Given the description of an element on the screen output the (x, y) to click on. 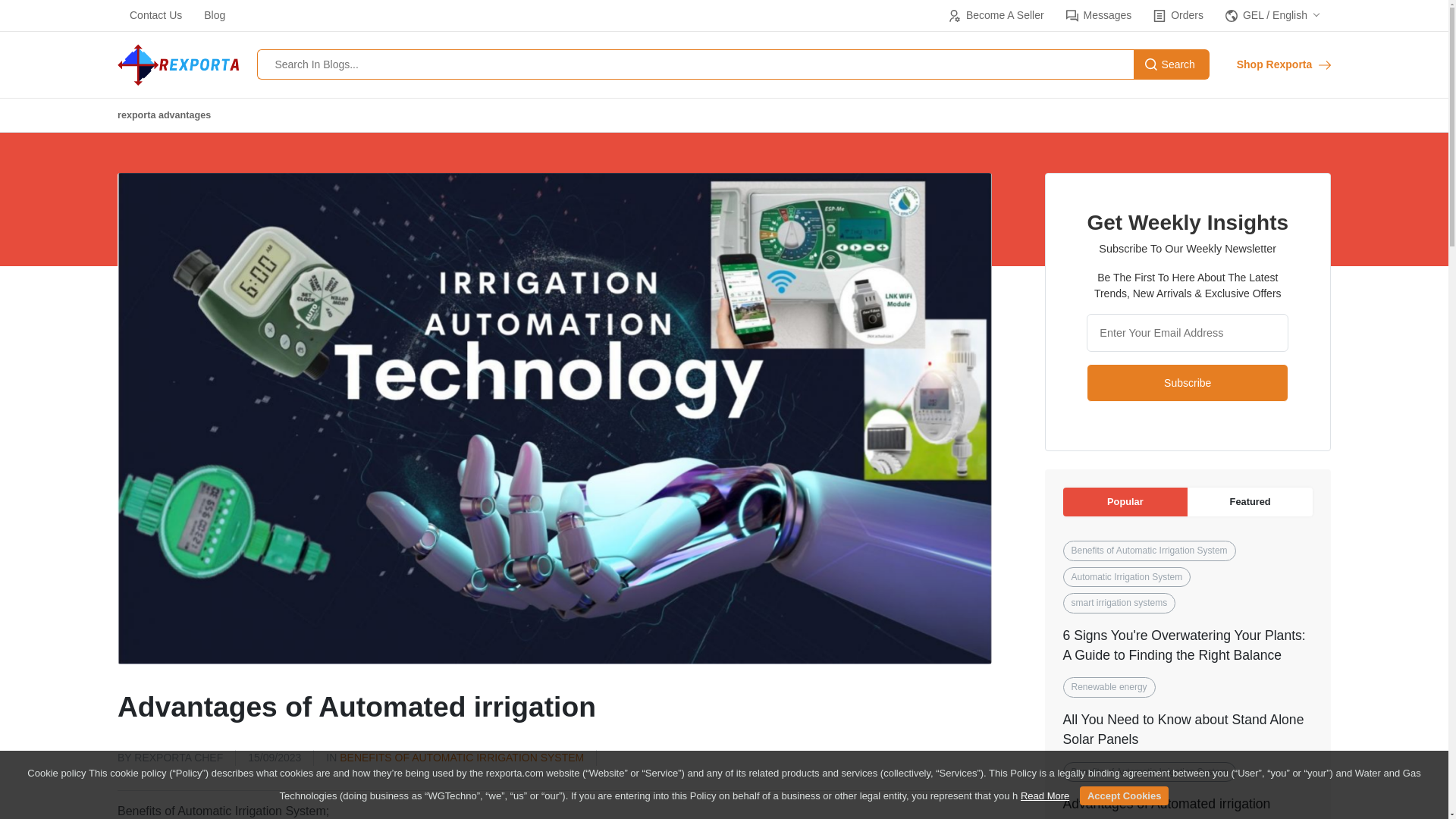
Search (1171, 64)
rexporta advantages (164, 115)
All You Need to Know about Stand Alone Solar Panels (1183, 728)
Search (1171, 64)
Search (1171, 64)
Subscribe (1187, 382)
Automatic Irrigation System (1126, 577)
Popular (1125, 501)
Orders (1176, 15)
BENEFITS OF AUTOMATIC IRRIGATION SYSTEM (461, 757)
Rexporta (177, 64)
Shop Rexporta (1283, 64)
Messages (1097, 15)
Advantages of Automated irrigation (1166, 803)
